Given the description of an element on the screen output the (x, y) to click on. 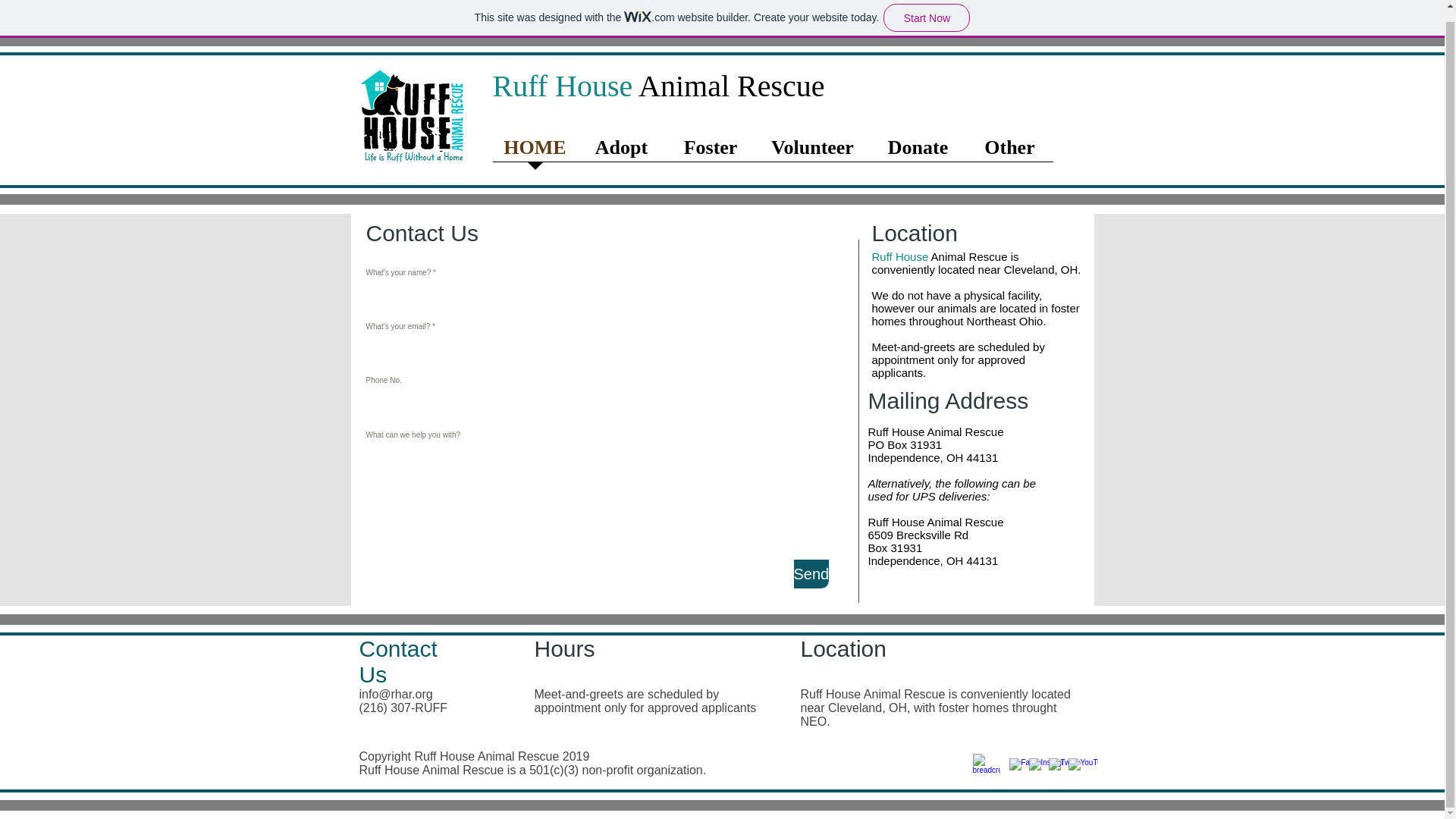
Send (810, 573)
Volunteer (812, 152)
Log In (290, 73)
Donate (917, 152)
HOME (535, 152)
